Given the description of an element on the screen output the (x, y) to click on. 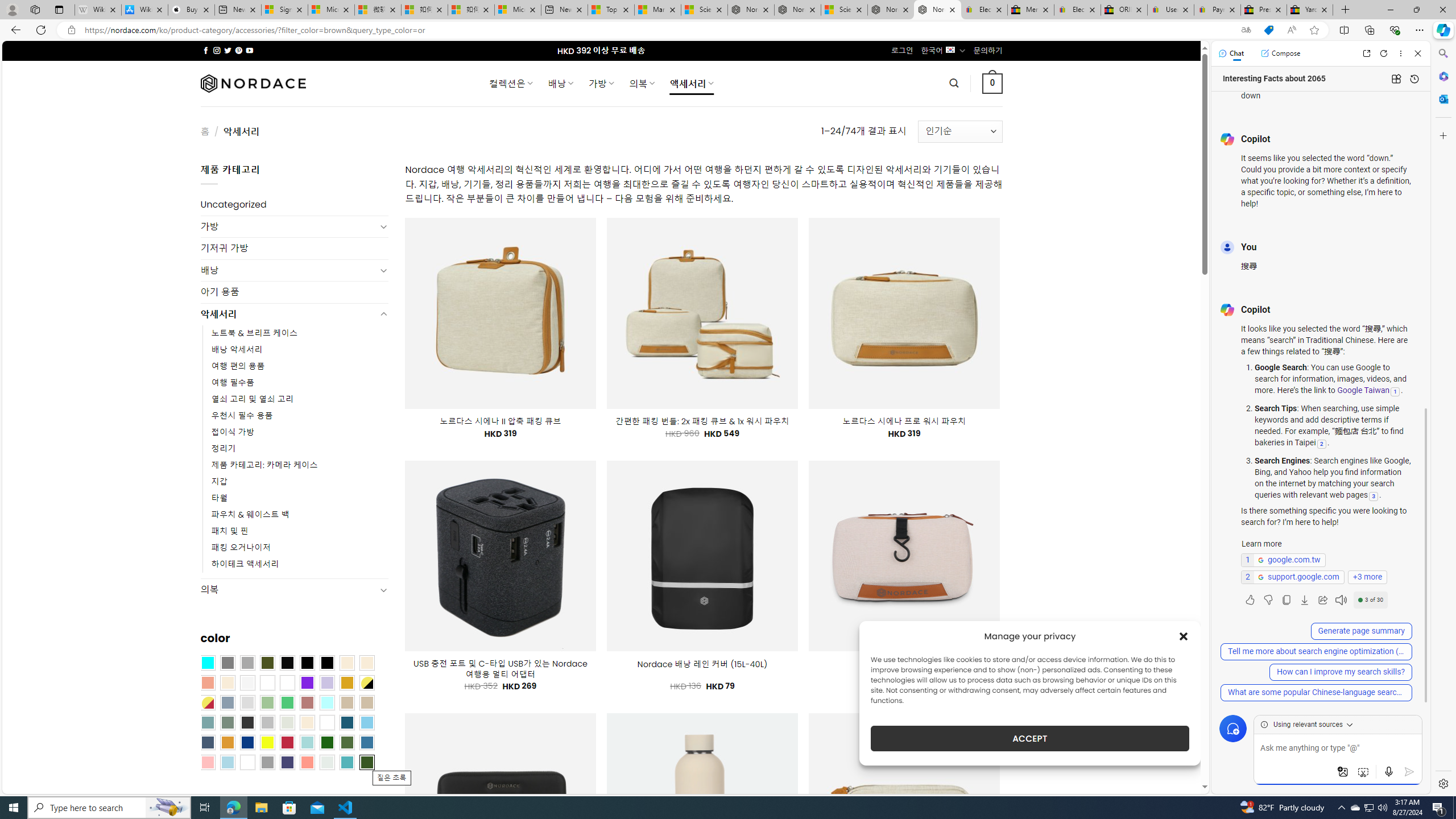
  0   (992, 83)
